Given the description of an element on the screen output the (x, y) to click on. 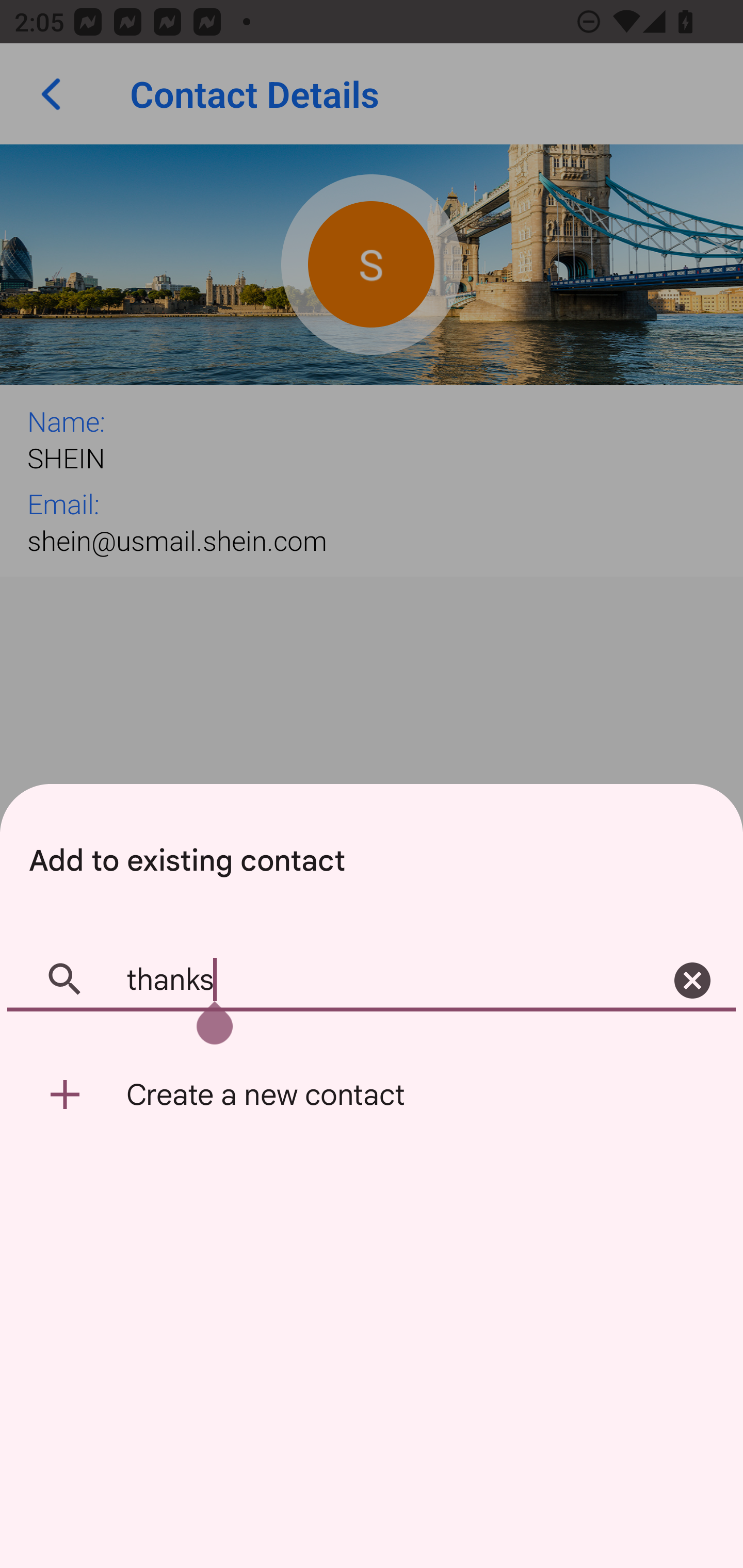
thanks (371, 980)
Clear search (692, 980)
Create a new contact (371, 1094)
